Given the description of an element on the screen output the (x, y) to click on. 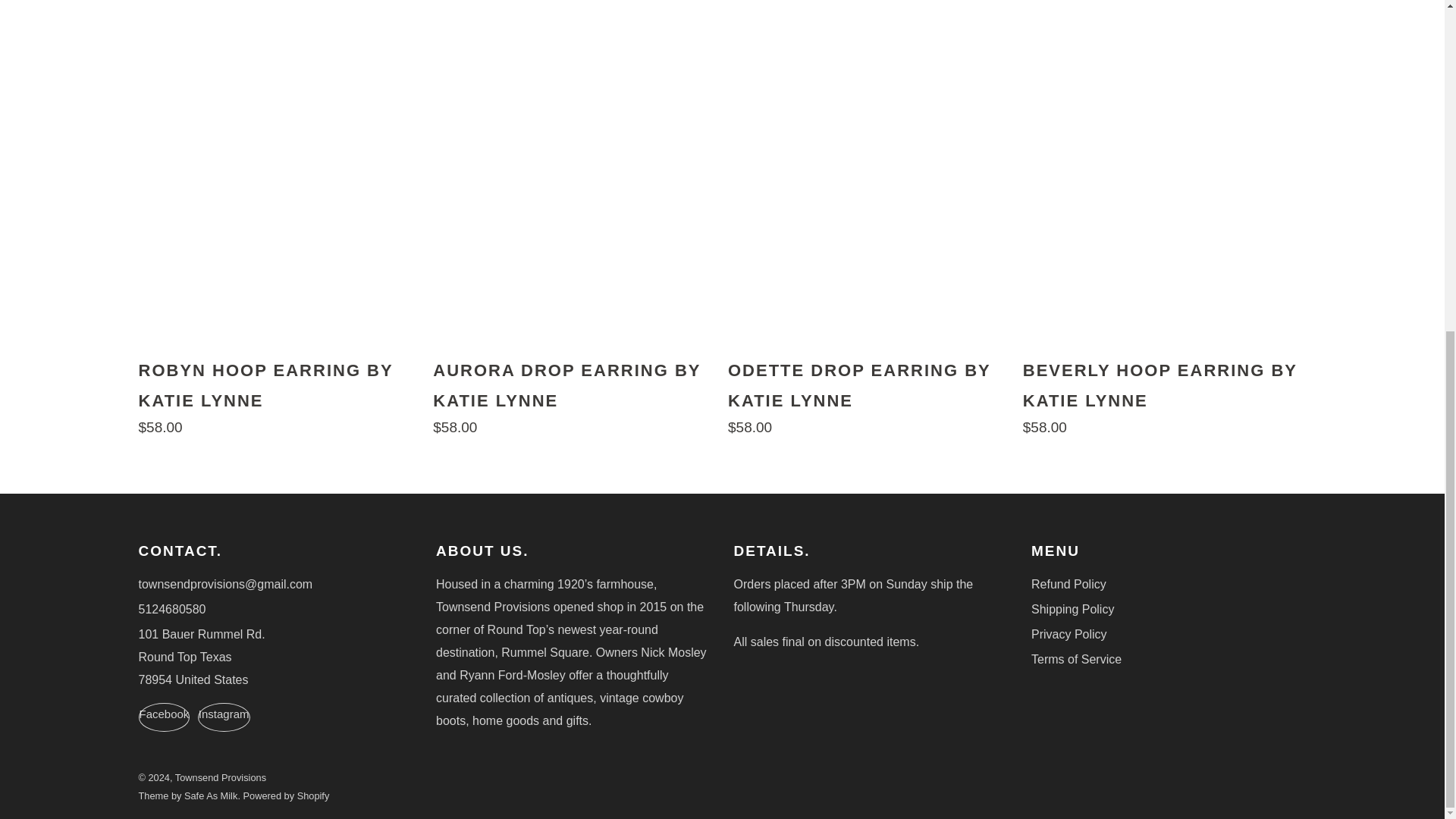
Beverly Hoop Earring by Katie Lynne (1164, 394)
Odette Drop Earring by Katie Lynne (869, 394)
Aurora Drop Earring by Katie Lynne (574, 394)
Robyn Hoop Earring by Katie Lynne (280, 394)
